Given the description of an element on the screen output the (x, y) to click on. 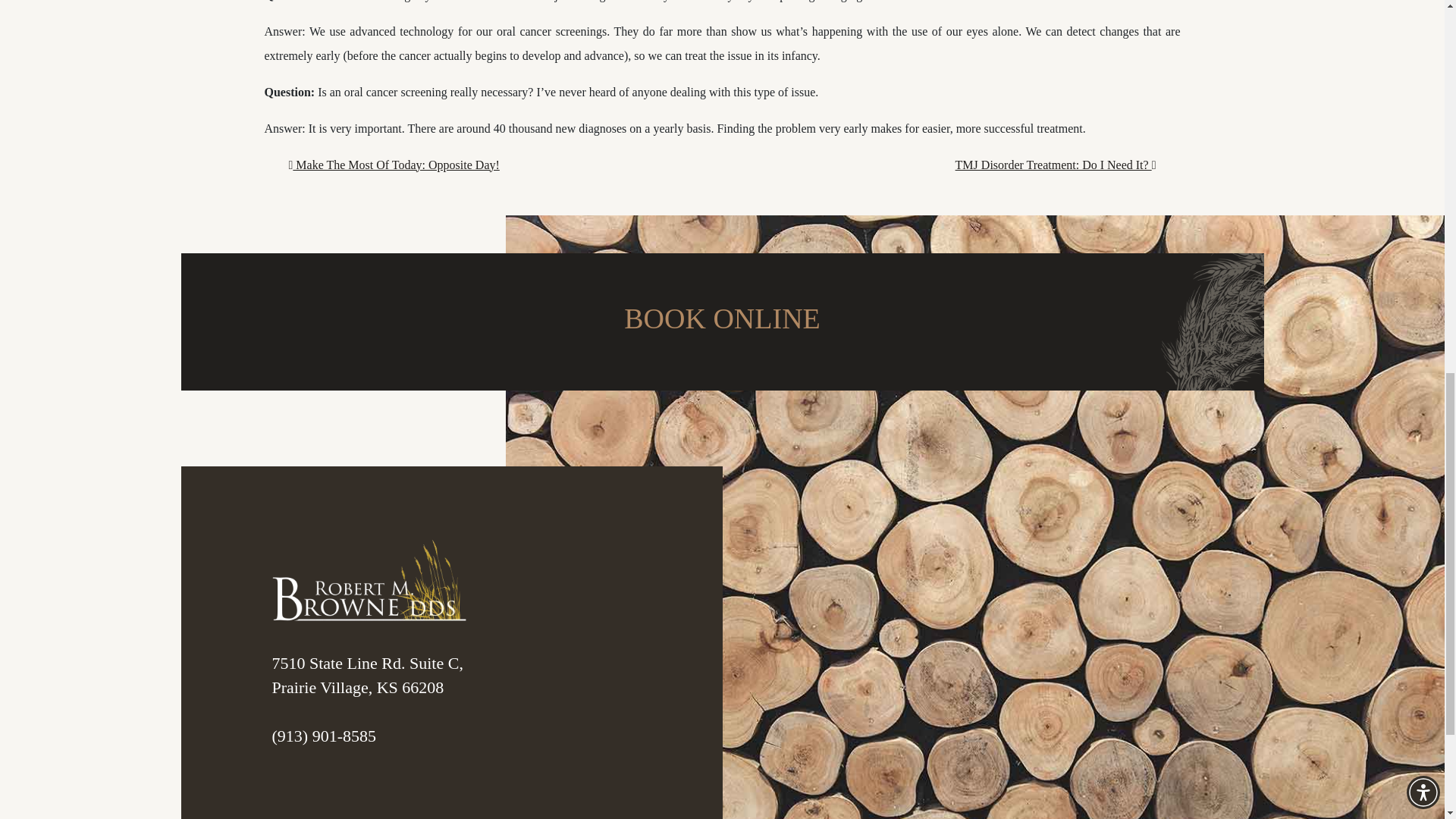
 Make The Most Of Today: Opposite Day! (393, 164)
TMJ Disorder Treatment: Do I Need It?  (1055, 164)
